Given the description of an element on the screen output the (x, y) to click on. 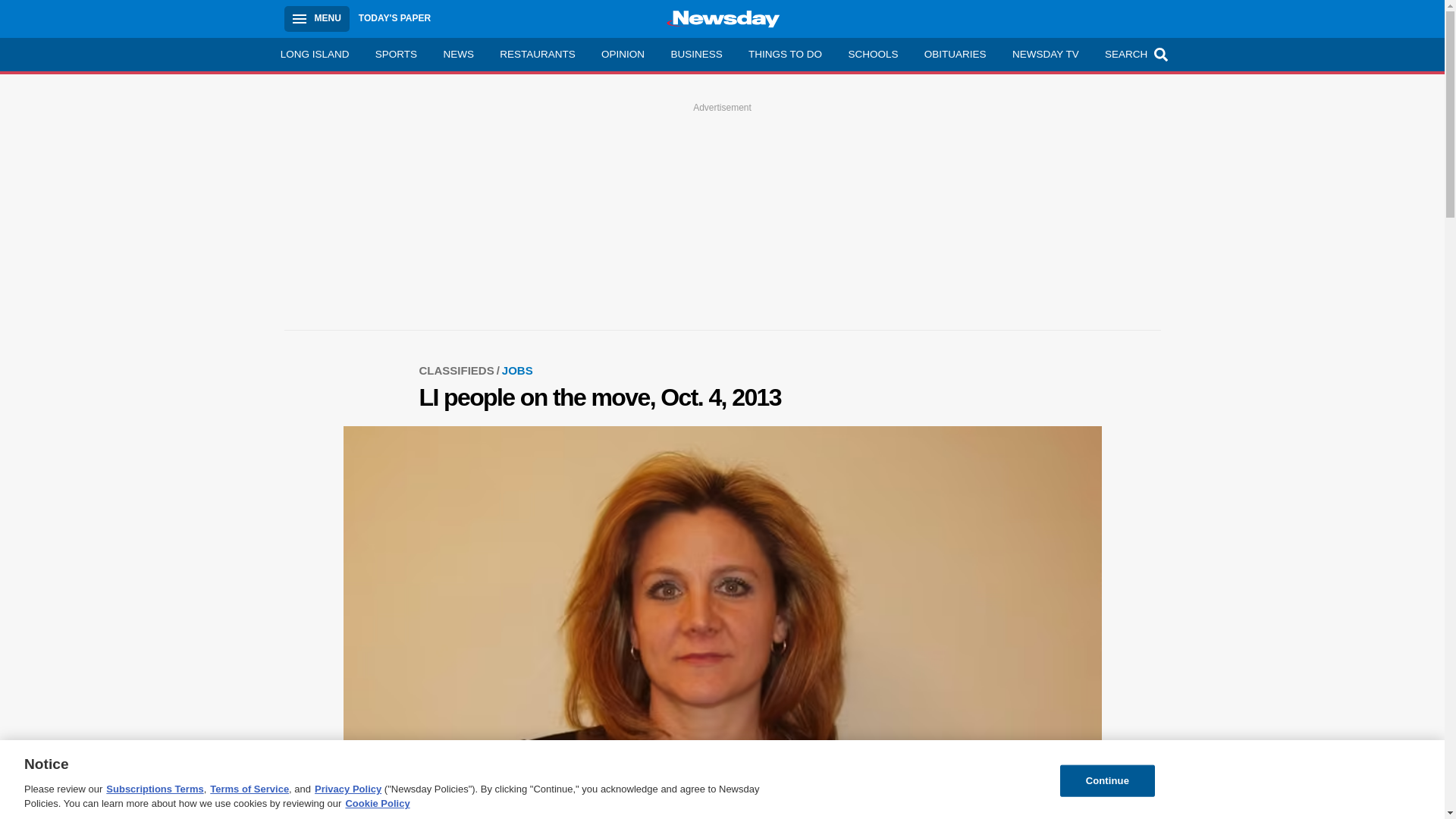
SEARCH (1134, 54)
LONG ISLAND (313, 54)
BUSINESS (696, 54)
MENU (316, 18)
THINGS TO DO (784, 54)
OPINION (623, 54)
SCHOOLS (872, 54)
RESTAURANTS (537, 54)
CLASSIFIEDS (459, 369)
JOBS (517, 369)
SPORTS (396, 54)
NEWS (457, 54)
OBITUARIES (954, 54)
NEWSDAY TV (1045, 54)
